Given the description of an element on the screen output the (x, y) to click on. 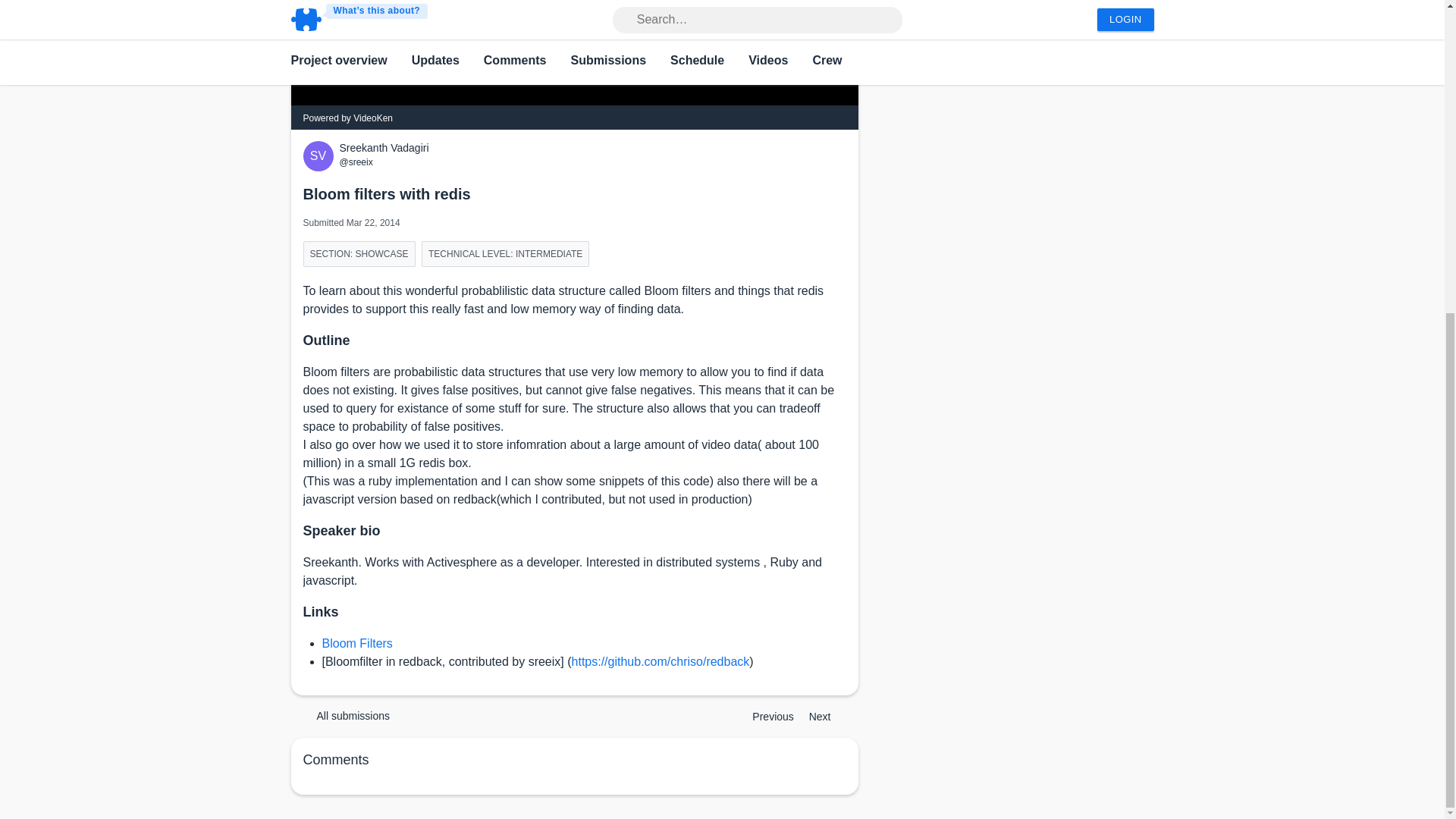
Powered by VideoKen (347, 118)
SV (320, 155)
